Given the description of an element on the screen output the (x, y) to click on. 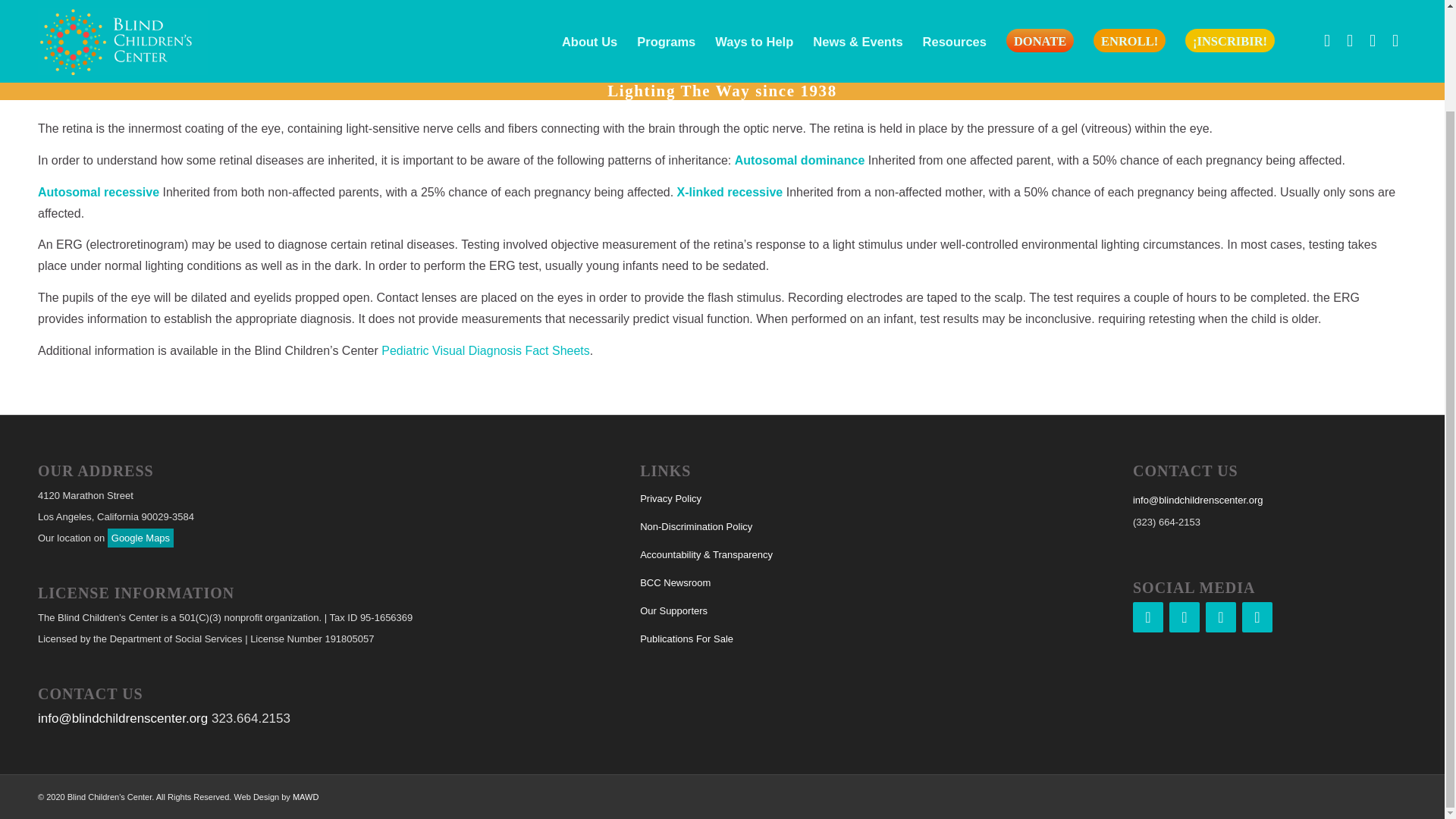
YouTube (1256, 616)
Twitter (1220, 616)
Permanent Link: Retinal Diseases (132, 30)
Instagram (1184, 616)
Facebook (1147, 616)
Blind Children's Center (1319, 22)
